Given the description of an element on the screen output the (x, y) to click on. 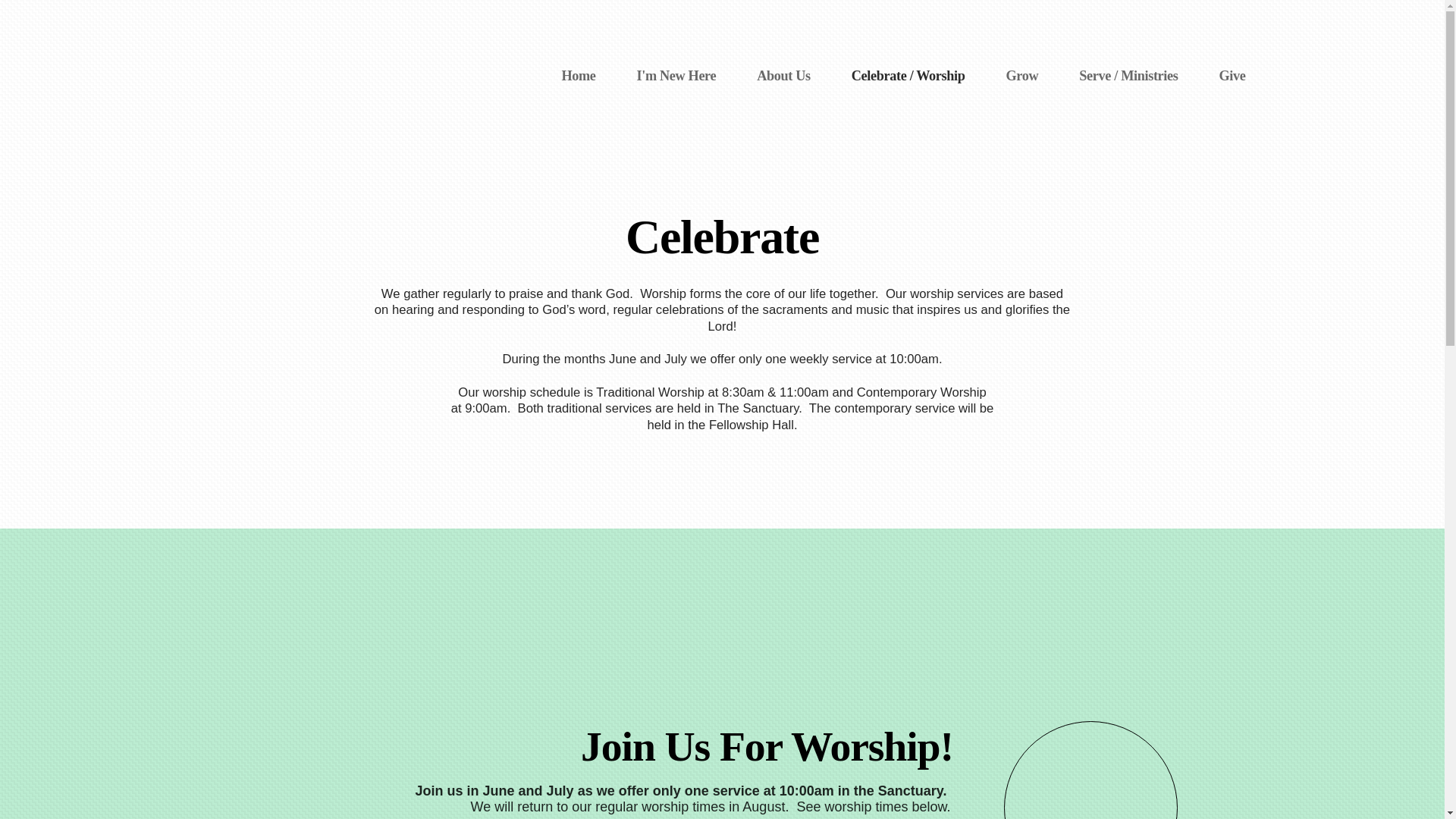
Home (577, 75)
About Us (783, 75)
I'm New Here (675, 75)
Grow (1022, 75)
